Given the description of an element on the screen output the (x, y) to click on. 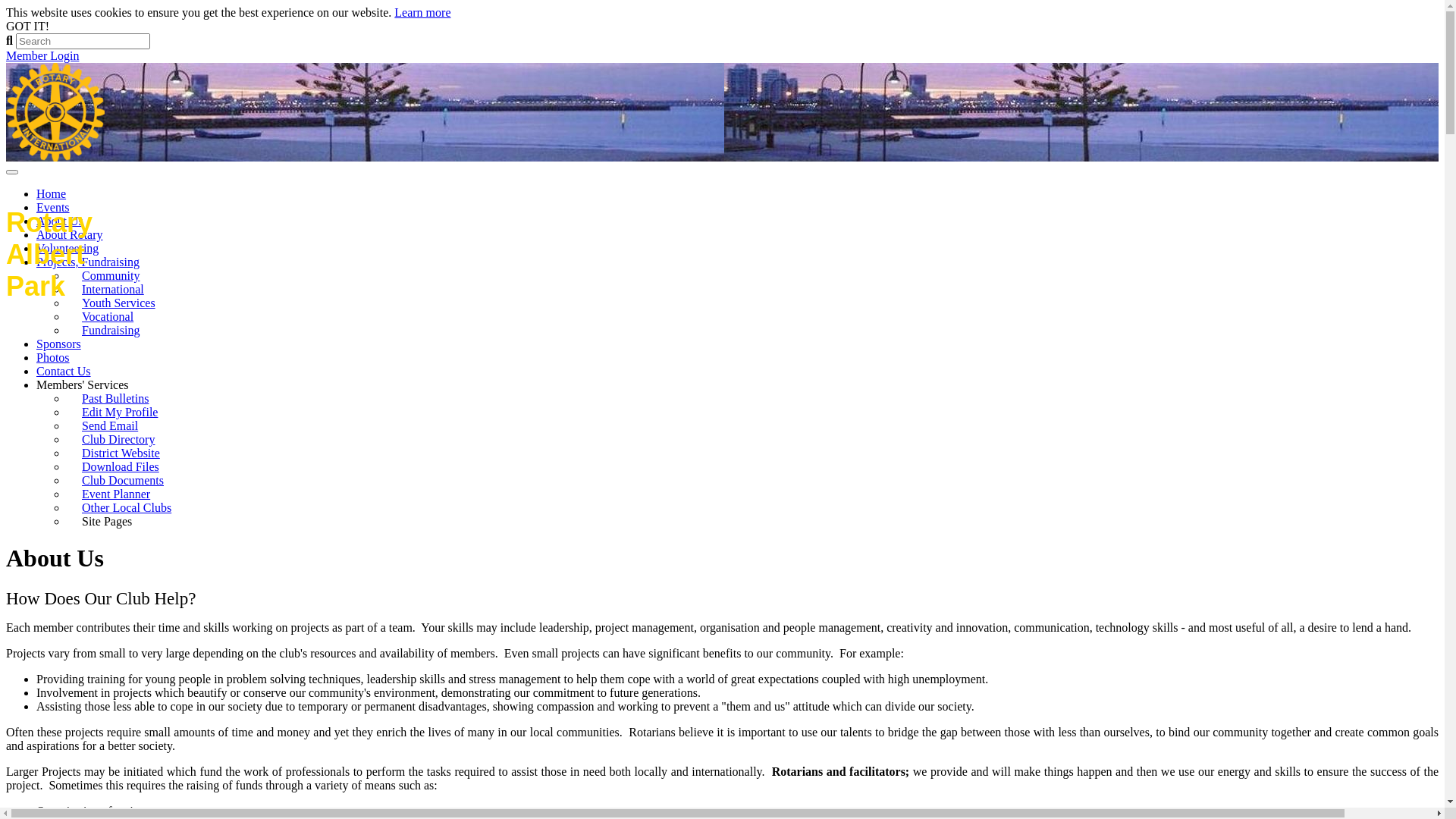
Volunteering Element type: text (67, 247)
Community Element type: text (110, 275)
Member Login Element type: text (42, 55)
Photos Element type: text (52, 357)
Home Element type: text (50, 193)
Club Directory Element type: text (117, 439)
Youth Services Element type: text (118, 302)
Past Bulletins Element type: text (114, 398)
Site Pages Element type: text (112, 521)
Fundraising Element type: text (110, 329)
Club Documents Element type: text (122, 480)
About Rotary Element type: text (69, 234)
Other Local Clubs Element type: text (126, 507)
GOT IT! Element type: text (27, 25)
Send Email Element type: text (109, 425)
Event Planner Element type: text (115, 493)
About Us Element type: text (59, 220)
District Website Element type: text (120, 452)
Vocational Element type: text (107, 316)
Projects, Fundraising Element type: text (87, 261)
Sponsors Element type: text (58, 343)
Toggle navigation Element type: text (12, 171)
Download Files Element type: text (120, 466)
Members' Services Element type: text (82, 384)
Edit My Profile Element type: text (119, 411)
International Element type: text (112, 289)
Contact Us Element type: text (63, 370)
Learn more Element type: text (422, 12)
Events Element type: text (52, 206)
